Given the description of an element on the screen output the (x, y) to click on. 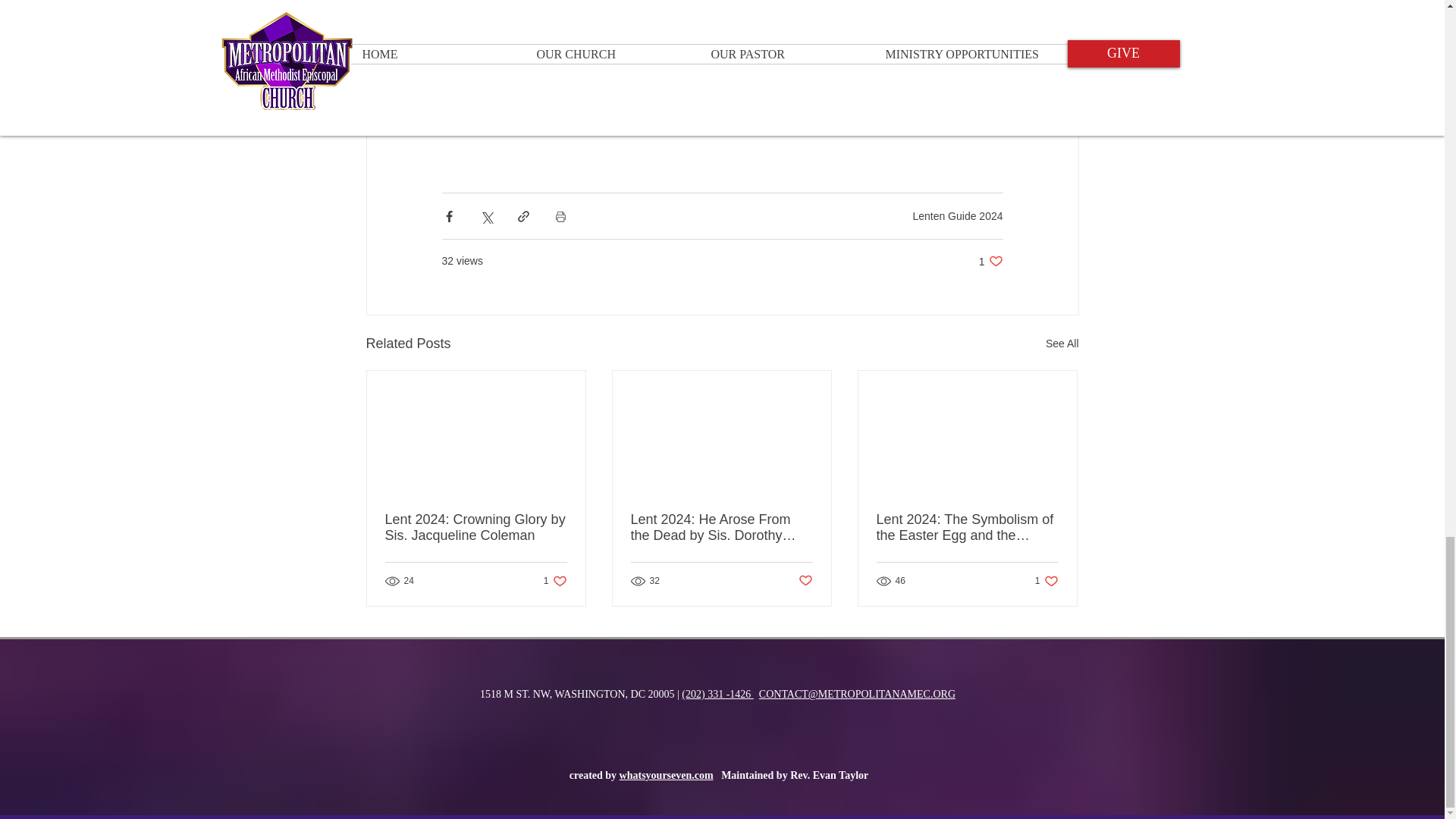
Lent 2024: Crowning Glory by Sis. Jacqueline Coleman (476, 527)
download the book (682, 32)
Download the Book (721, 66)
Post not marked as liked (990, 260)
Lenten Guide 2024 (804, 580)
See All (957, 215)
